Given the description of an element on the screen output the (x, y) to click on. 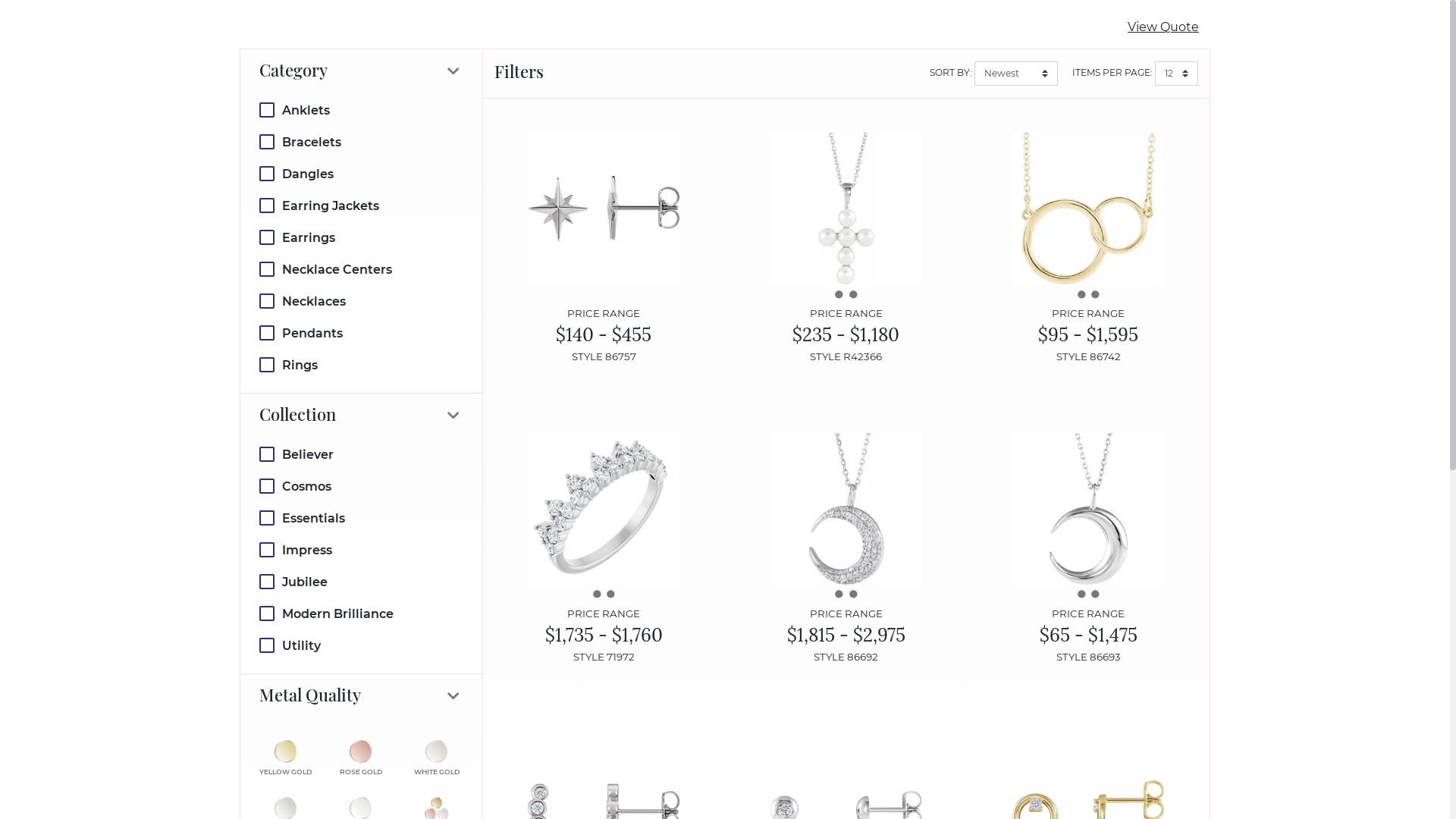
YELLOW GOLD Element type: text (285, 759)
Modern Brilliance Element type: text (361, 614)
Bracelets Element type: text (361, 142)
Utility Element type: text (361, 646)
Earring Jackets Element type: text (361, 206)
Jubilee Element type: text (361, 582)
Believer Element type: text (361, 454)
PRICE RANGE
$1,815 - $2,975
STYLE 86692 Element type: text (845, 549)
PRICE RANGE
$235 - $1,180
STYLE R42366 Element type: text (845, 248)
PRICE RANGE
$65 - $1,475
STYLE 86693 Element type: text (1087, 549)
Cosmos Element type: text (361, 486)
View Quote Element type: text (1162, 26)
Essentials Element type: text (361, 518)
PRICE RANGE
$95 - $1,595
STYLE 86742 Element type: text (1087, 248)
WHITE GOLD Element type: text (436, 759)
ROSE GOLD Element type: text (360, 759)
Rings Element type: text (361, 365)
PRICE RANGE
$140 - $455
STYLE 86757 Element type: text (603, 248)
PRICE RANGE
$1,735 - $1,760
STYLE 71972 Element type: text (603, 549)
Necklace Centers Element type: text (361, 269)
Dangles Element type: text (361, 174)
Earrings Element type: text (361, 238)
Impress Element type: text (361, 550)
Necklaces Element type: text (361, 301)
Anklets Element type: text (361, 110)
Pendants Element type: text (361, 333)
